Given the description of an element on the screen output the (x, y) to click on. 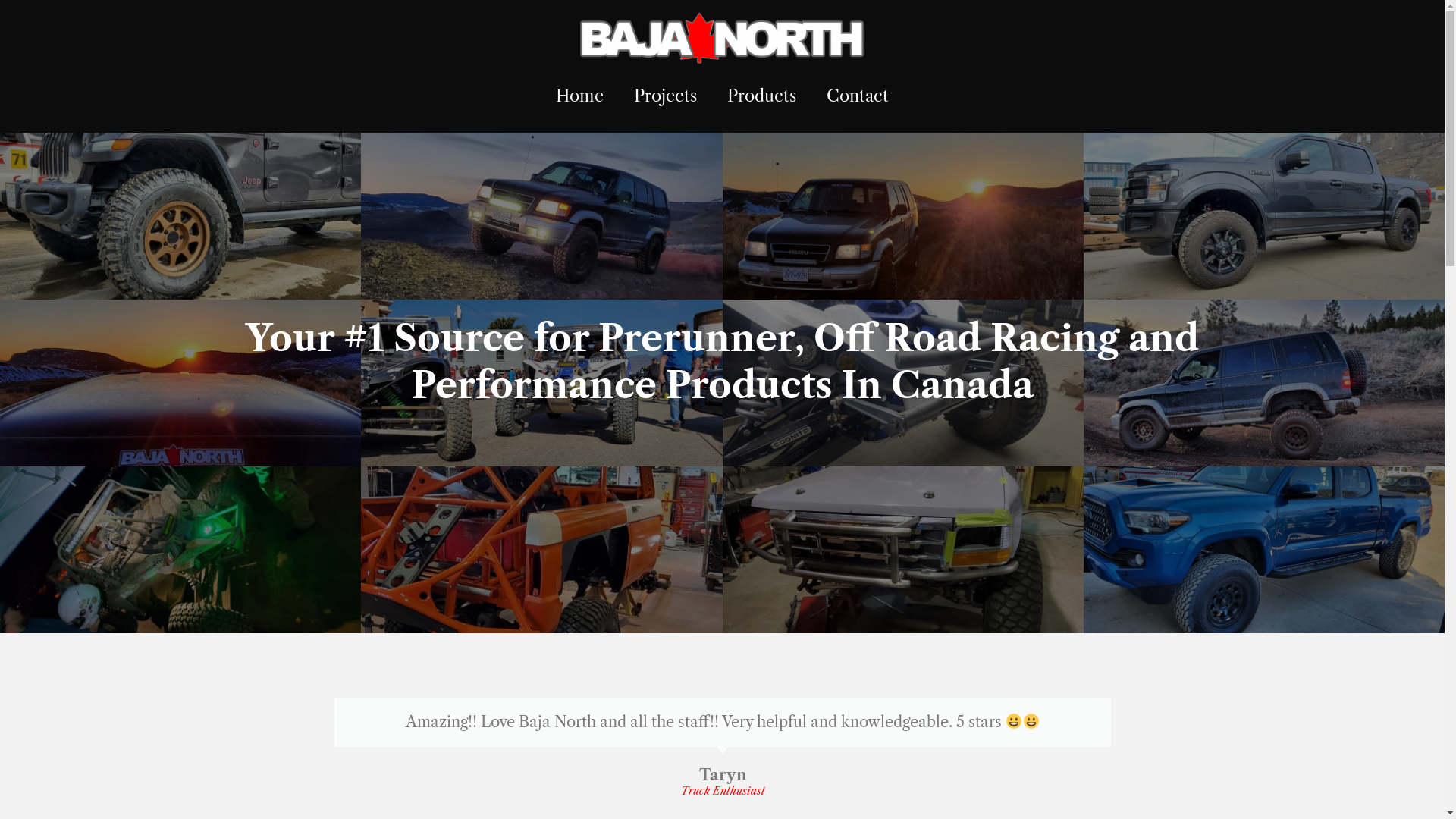
Home Element type: text (579, 95)
Contact Element type: text (857, 95)
Projects Element type: text (665, 95)
bn_newlogo Element type: hover (722, 37)
Products Element type: text (761, 95)
